Given the description of an element on the screen output the (x, y) to click on. 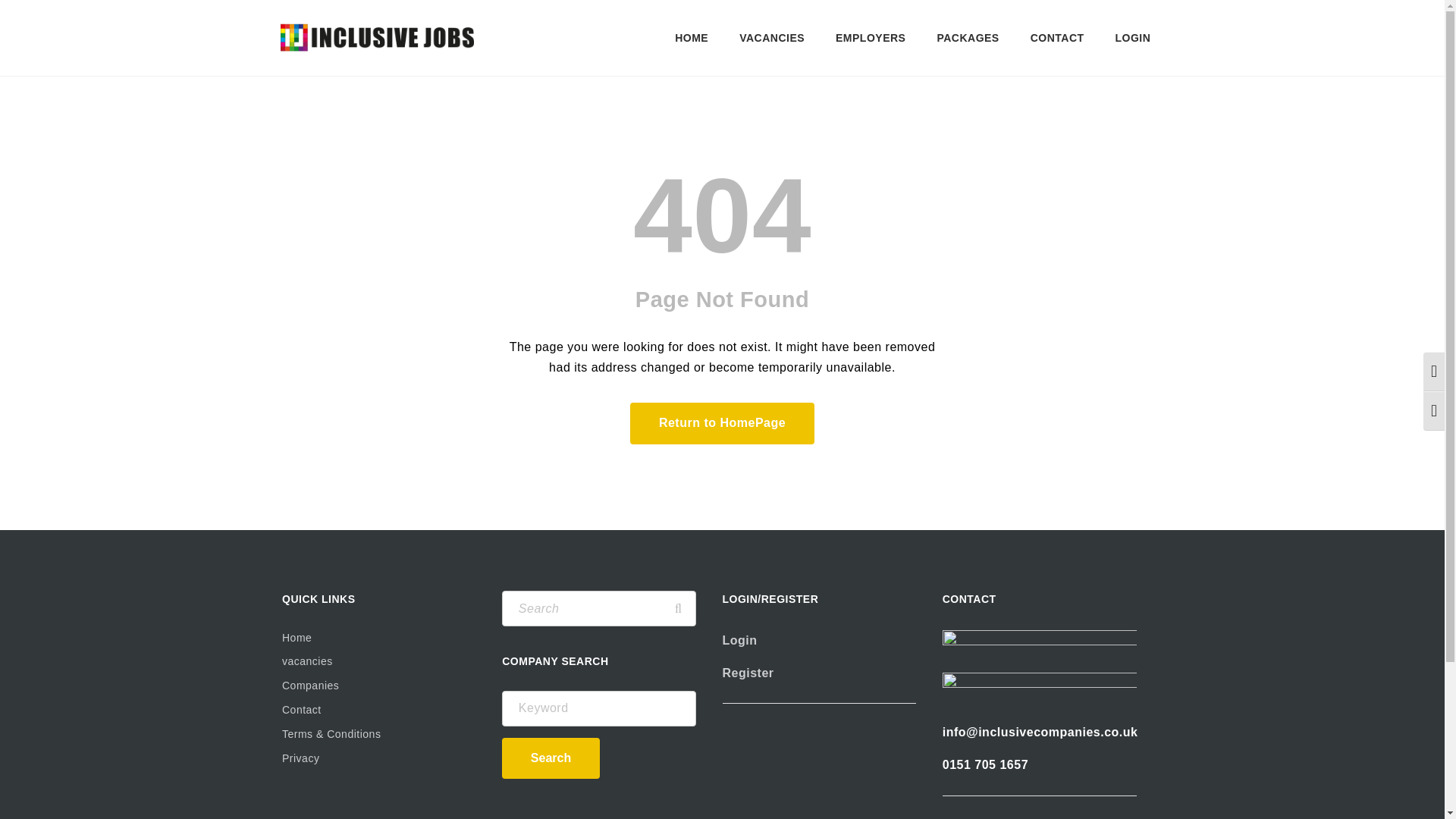
Companies (379, 686)
Search (550, 758)
vacancies (379, 661)
Contact (379, 710)
VACANCIES (771, 38)
Home Page (721, 423)
Return to HomePage (721, 423)
Creating opportunities today...for a brighter tomorrow (377, 38)
Home (379, 638)
Search (678, 608)
